Given the description of an element on the screen output the (x, y) to click on. 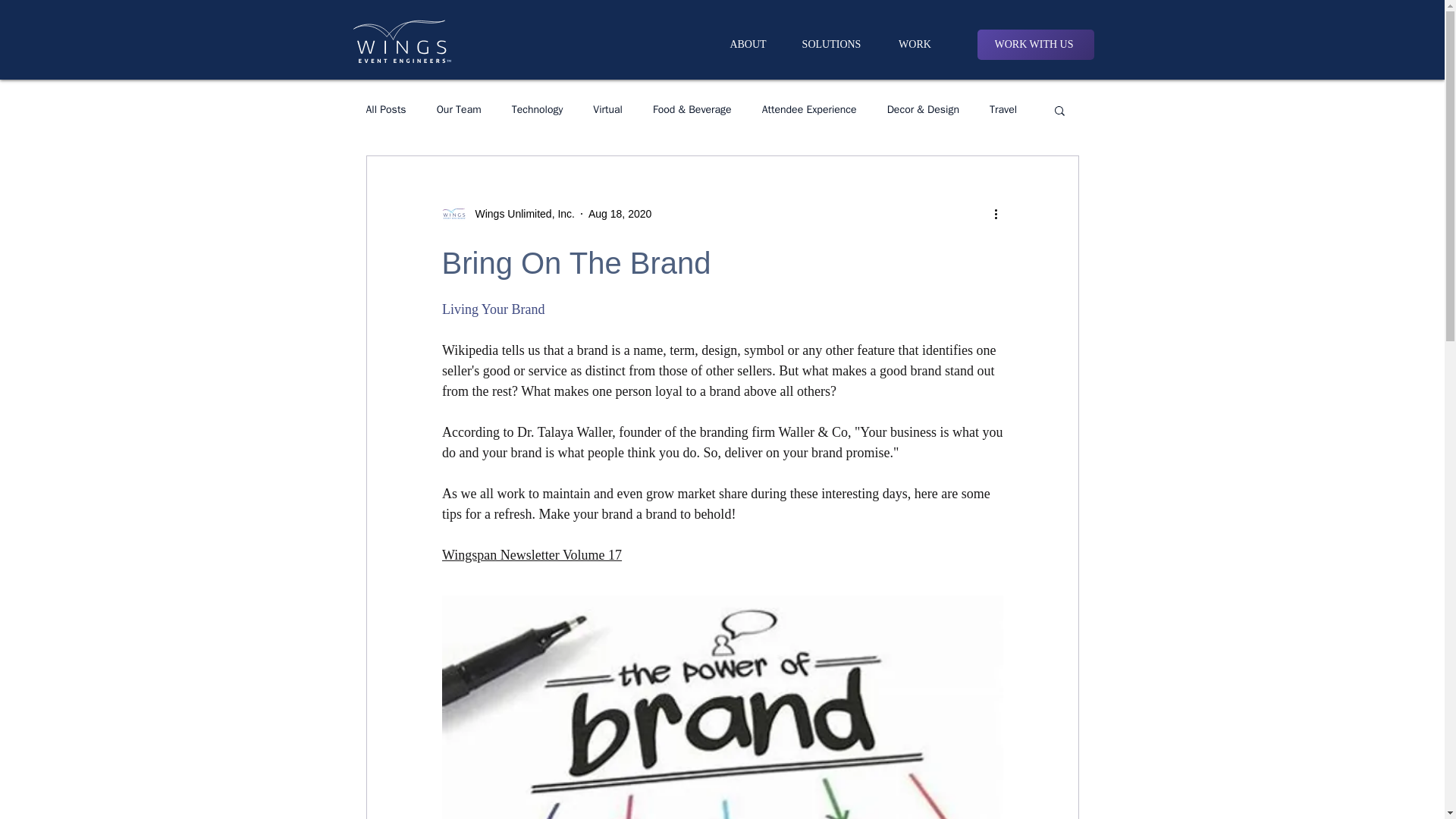
ABOUT (748, 44)
All Posts (385, 110)
Our Team (458, 110)
Virtual (607, 110)
WORK WITH US (1034, 44)
Technology (537, 110)
Wingspan Newsletter Volume 17 (531, 554)
Aug 18, 2020 (619, 214)
Attendee Experience (809, 110)
WORK (914, 44)
